Given the description of an element on the screen output the (x, y) to click on. 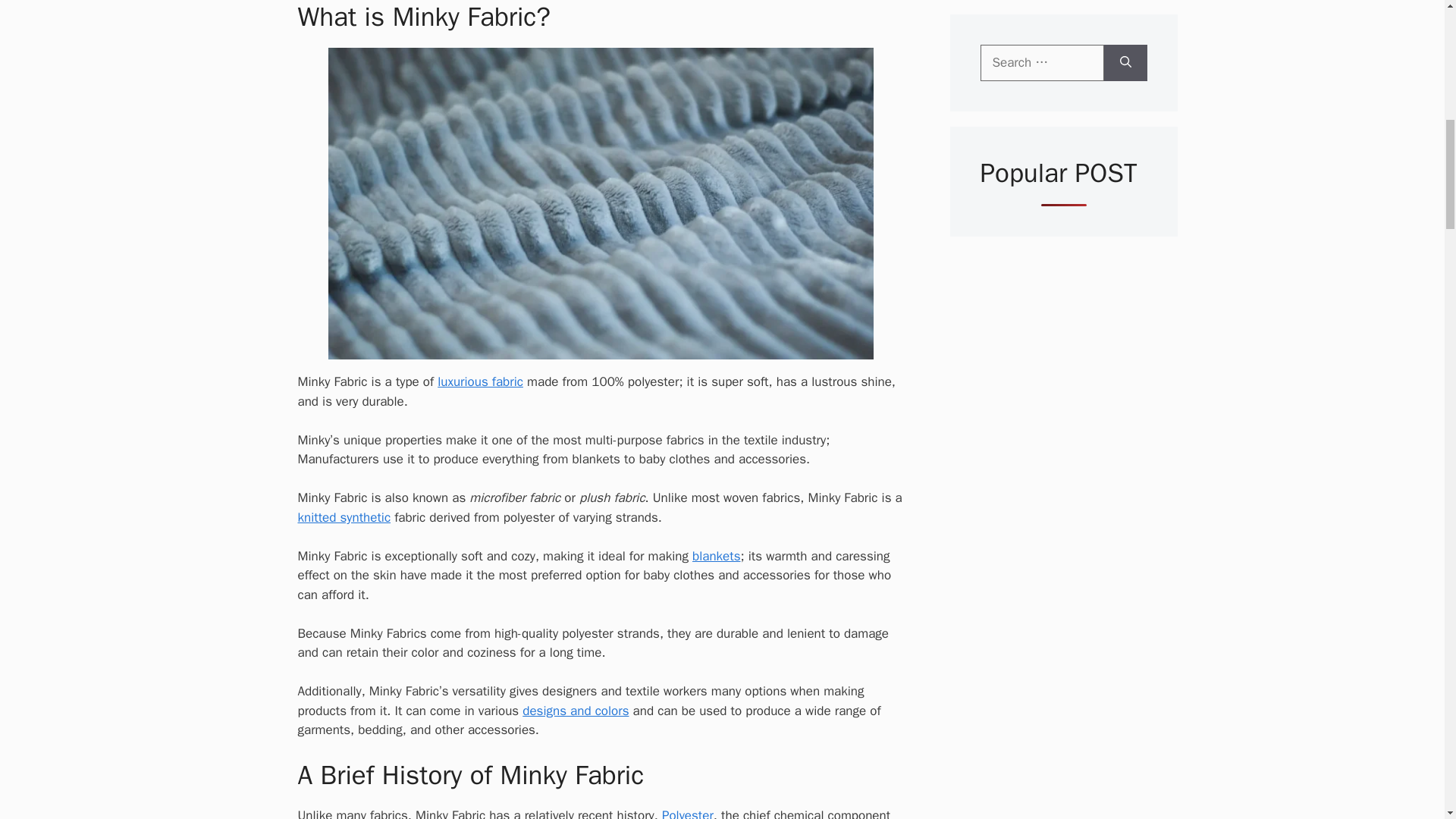
luxurious fabric (480, 381)
blankets (716, 555)
designs and colors (575, 710)
knitted synthetic (343, 517)
Search for: (1041, 63)
Polyester (687, 813)
